Given the description of an element on the screen output the (x, y) to click on. 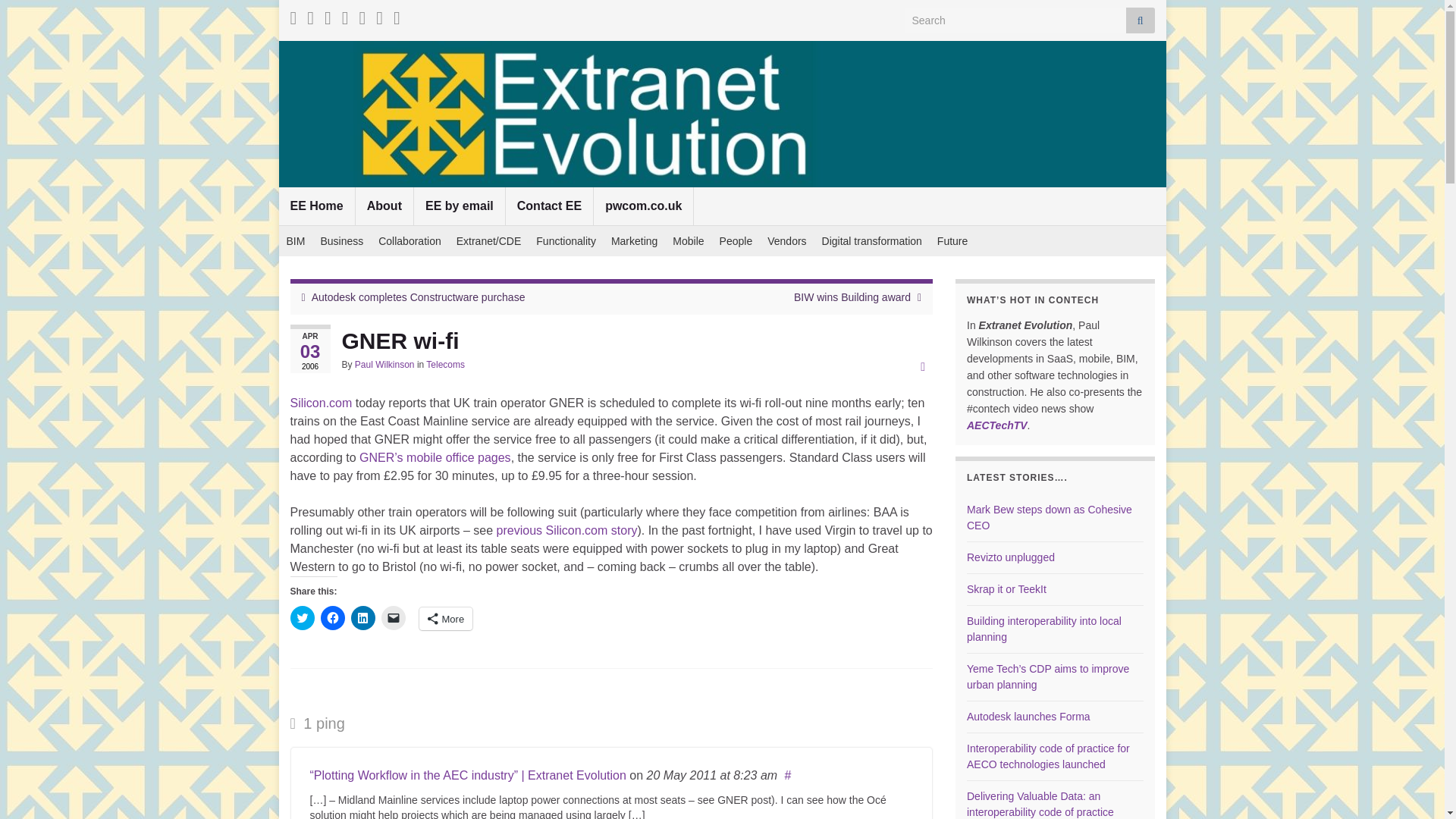
pwcom.co.uk Ltd (643, 206)
Paul Wilkinson (384, 364)
Marketing (634, 241)
Click to share on Twitter (301, 617)
BIW wins Building award (852, 297)
Contact me (548, 206)
previous Silicon.com story (566, 530)
blog home page (317, 206)
EE header 1200x198 (722, 113)
People (735, 241)
EE by email (459, 206)
Future (952, 241)
Click to email a link to a friend (392, 617)
Contact EE (548, 206)
pwcom.co.uk (643, 206)
